Given the description of an element on the screen output the (x, y) to click on. 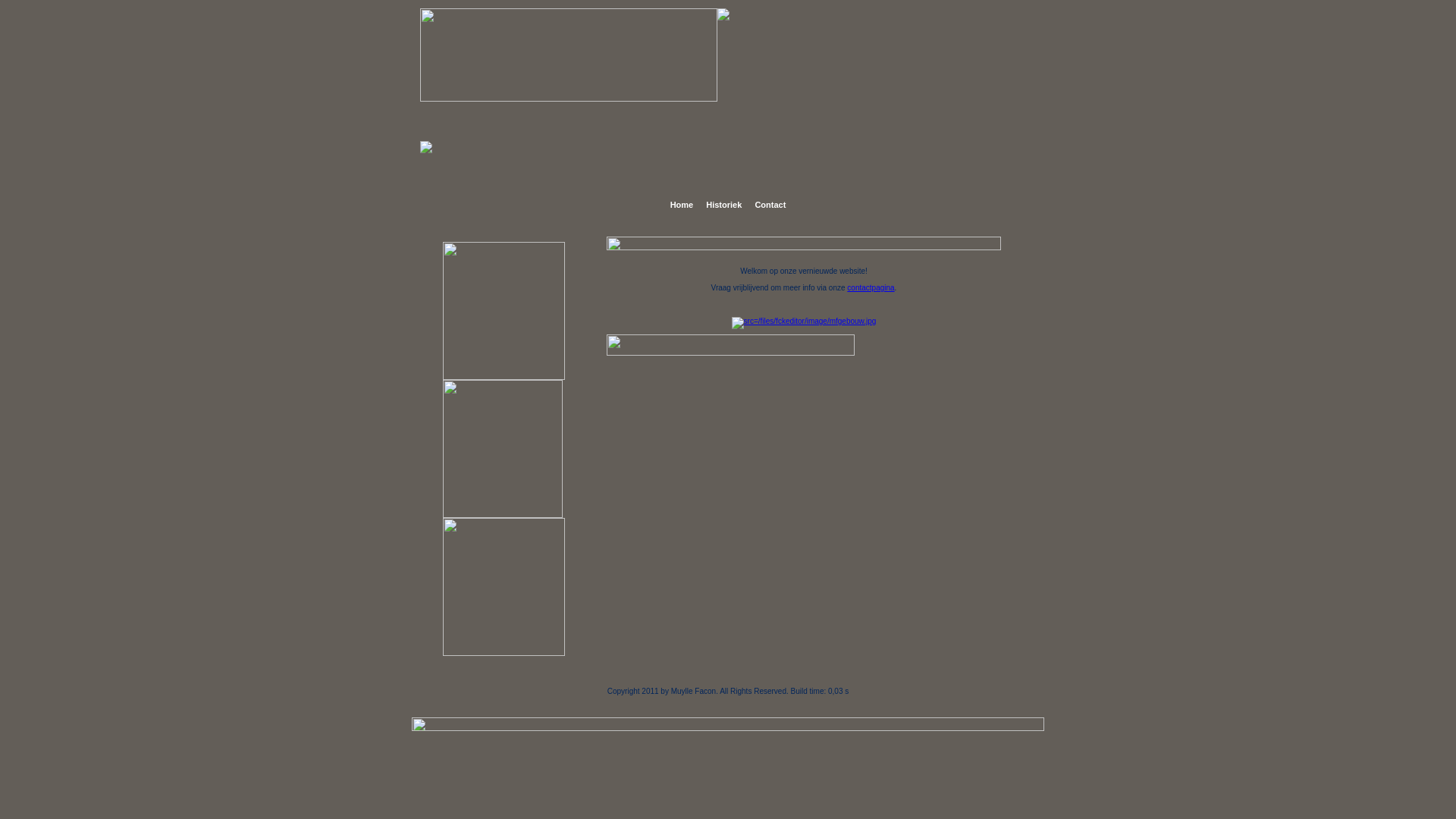
Contact Element type: text (769, 204)
contactpagina Element type: text (870, 287)
Home Element type: text (682, 204)
Historiek Element type: text (723, 204)
